Given the description of an element on the screen output the (x, y) to click on. 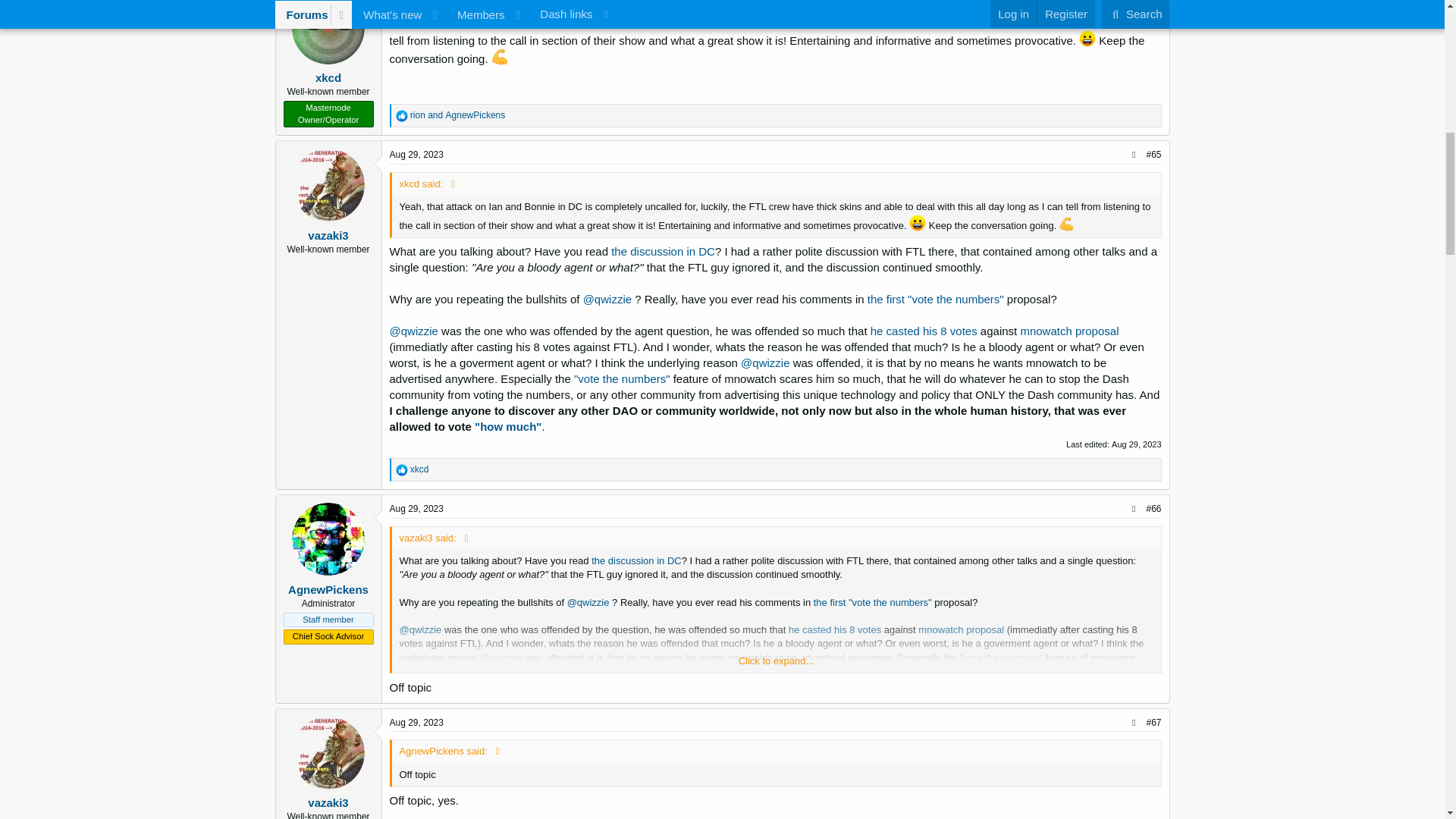
Flexed biceps    :muscle: (1066, 223)
Like (401, 115)
Big grin    :D (1087, 38)
Flexed biceps    :muscle: (500, 56)
Big grin    :D (917, 222)
Aug 29, 2023 at 8:08 PM (417, 154)
Aug 29, 2023 at 2:13 PM (417, 1)
